Given the description of an element on the screen output the (x, y) to click on. 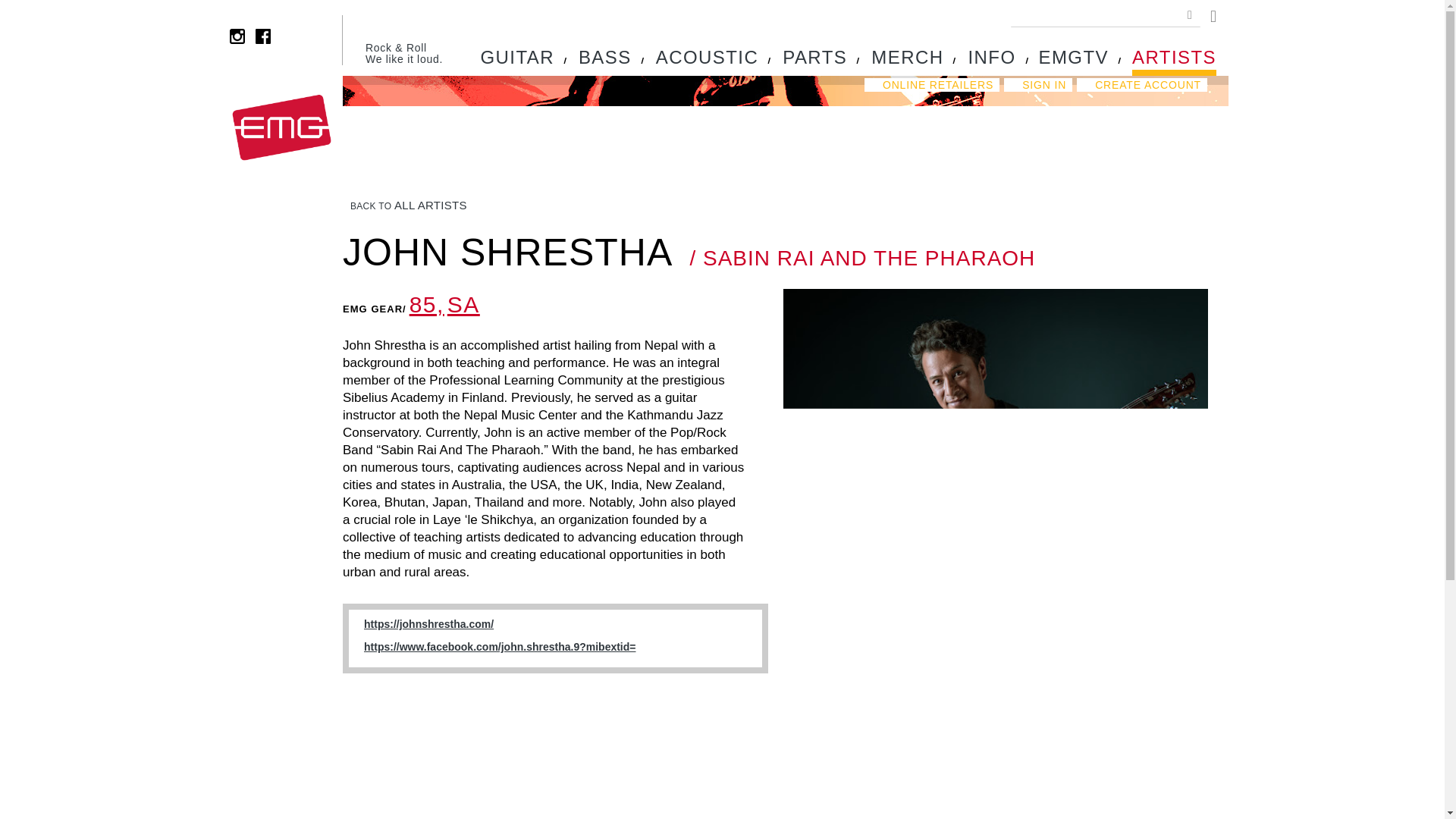
ONLINE RETAILERS (931, 84)
BASS (604, 60)
ACOUSTIC (707, 60)
GUITAR (517, 60)
Facebook (263, 36)
CREATE ACCOUNT (1142, 84)
Twitter (289, 36)
Instagram (237, 36)
SIGN IN (1037, 84)
